Given the description of an element on the screen output the (x, y) to click on. 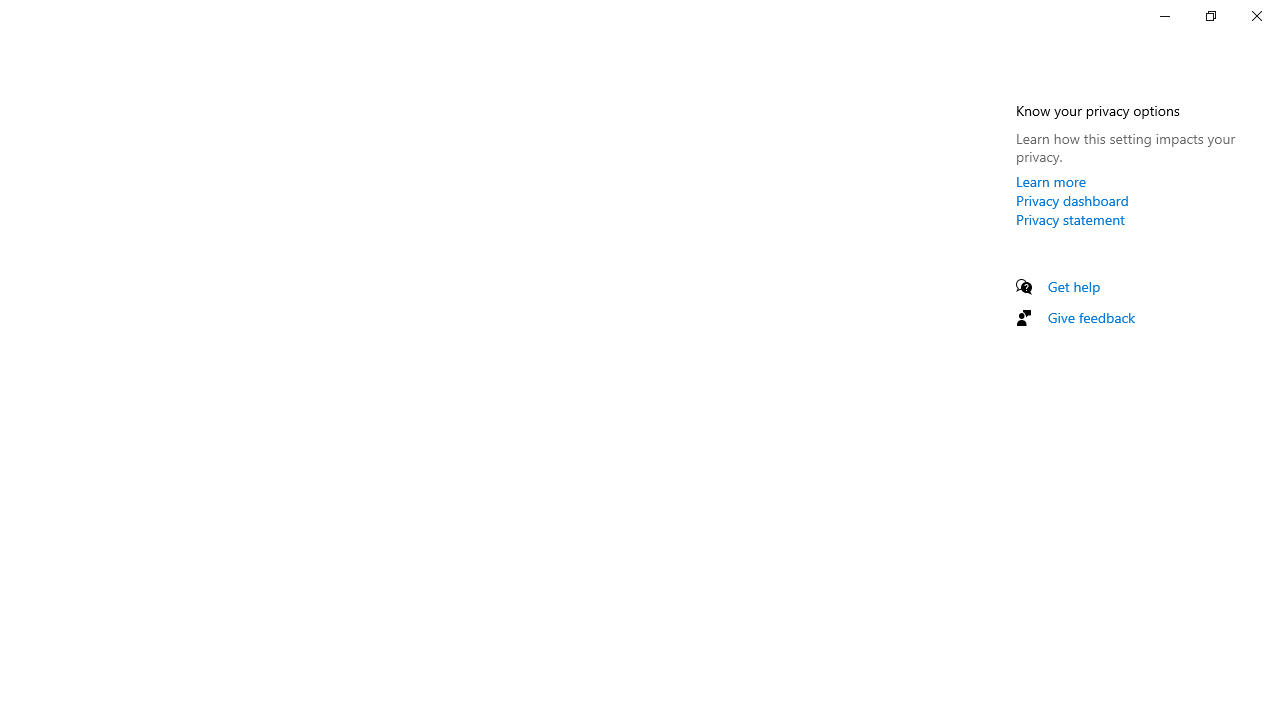
Privacy dashboard (1072, 200)
Privacy statement (1070, 219)
Learn more (1051, 181)
